Given the description of an element on the screen output the (x, y) to click on. 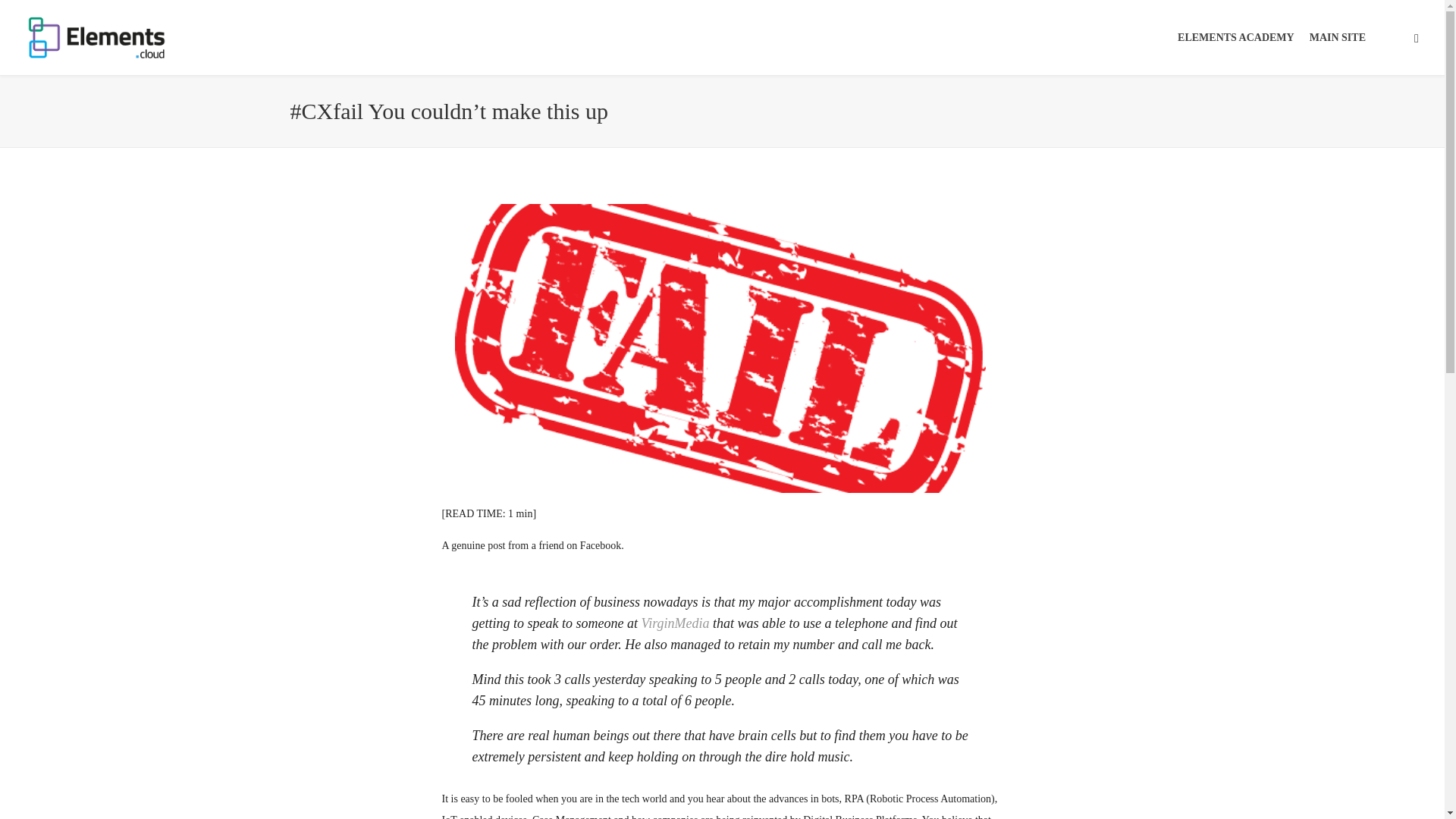
VirginMedia (674, 622)
ELEMENTS ACADEMY (1235, 37)
MAIN SITE (1337, 37)
